Given the description of an element on the screen output the (x, y) to click on. 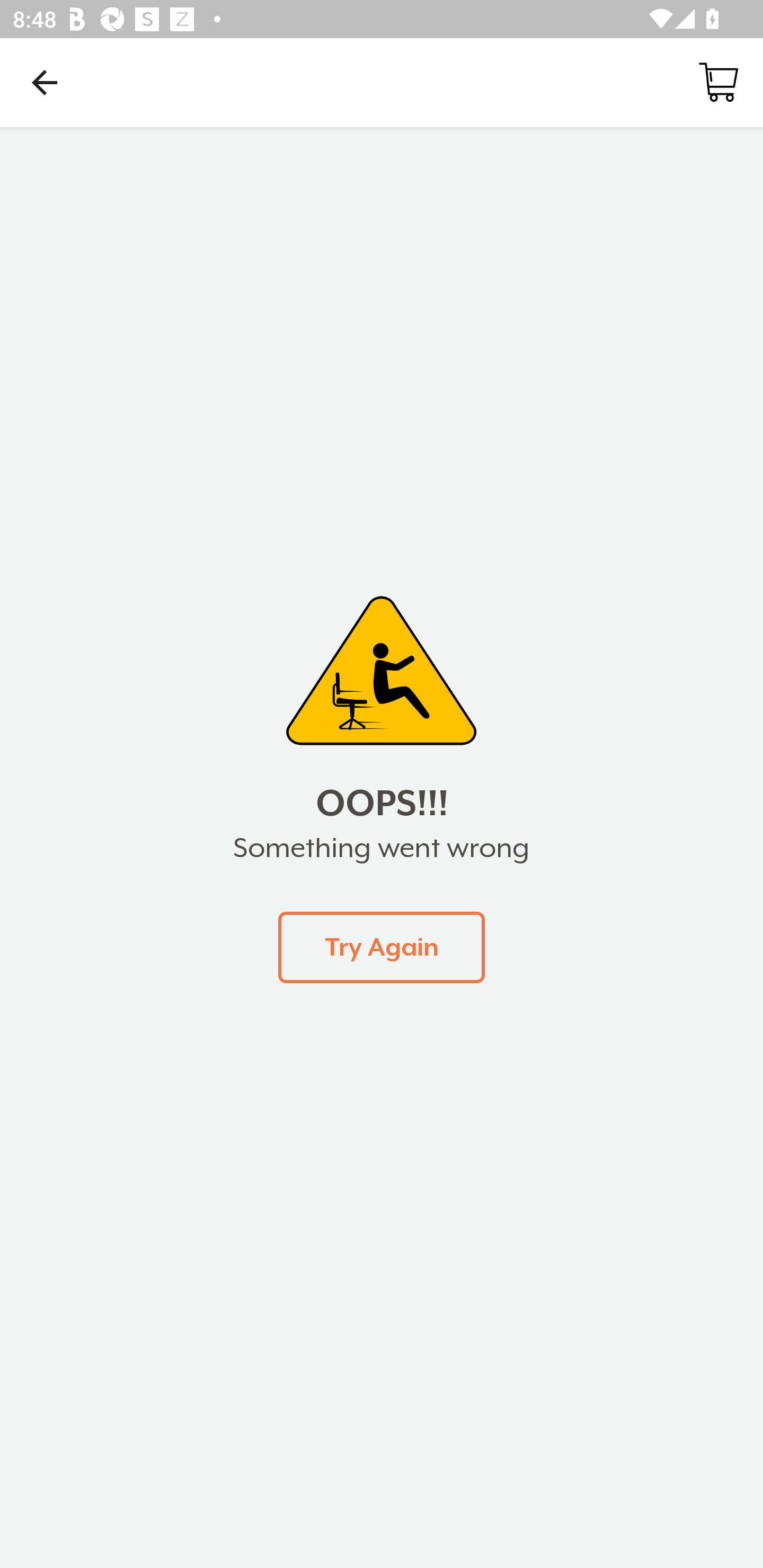
Navigate up (44, 82)
Cart (718, 81)
Try Again (381, 947)
